Given the description of an element on the screen output the (x, y) to click on. 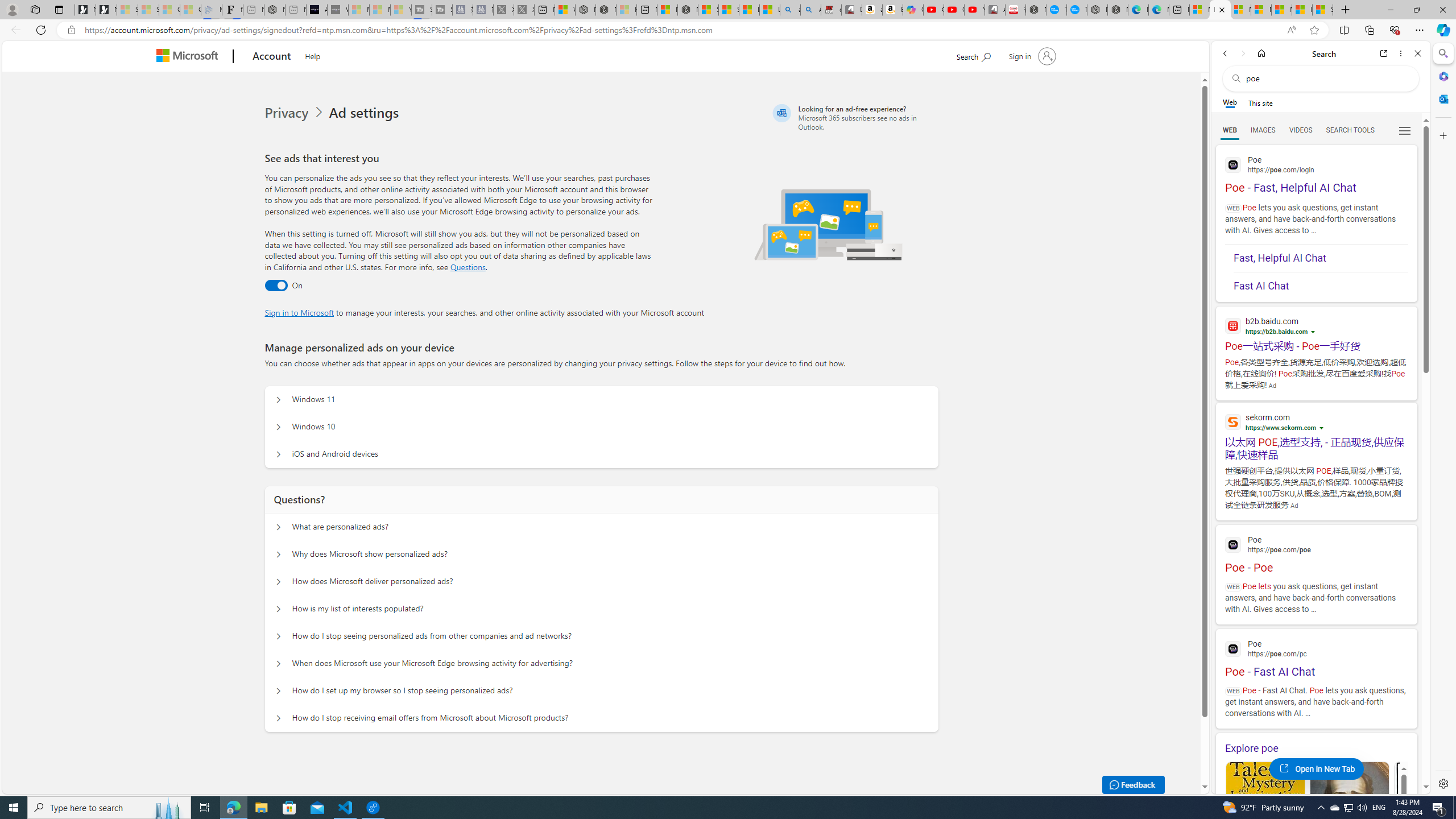
Fast, Helpful AI Chat (1320, 258)
Looking for an ad-free experience? (854, 117)
Class: b_serphb (1404, 130)
Newsletter Sign Up (106, 9)
Settings (1442, 783)
Fast AI Chat (1320, 286)
Preferences (1403, 129)
Nordace - Nordace has arrived Hong Kong (1117, 9)
